Given the description of an element on the screen output the (x, y) to click on. 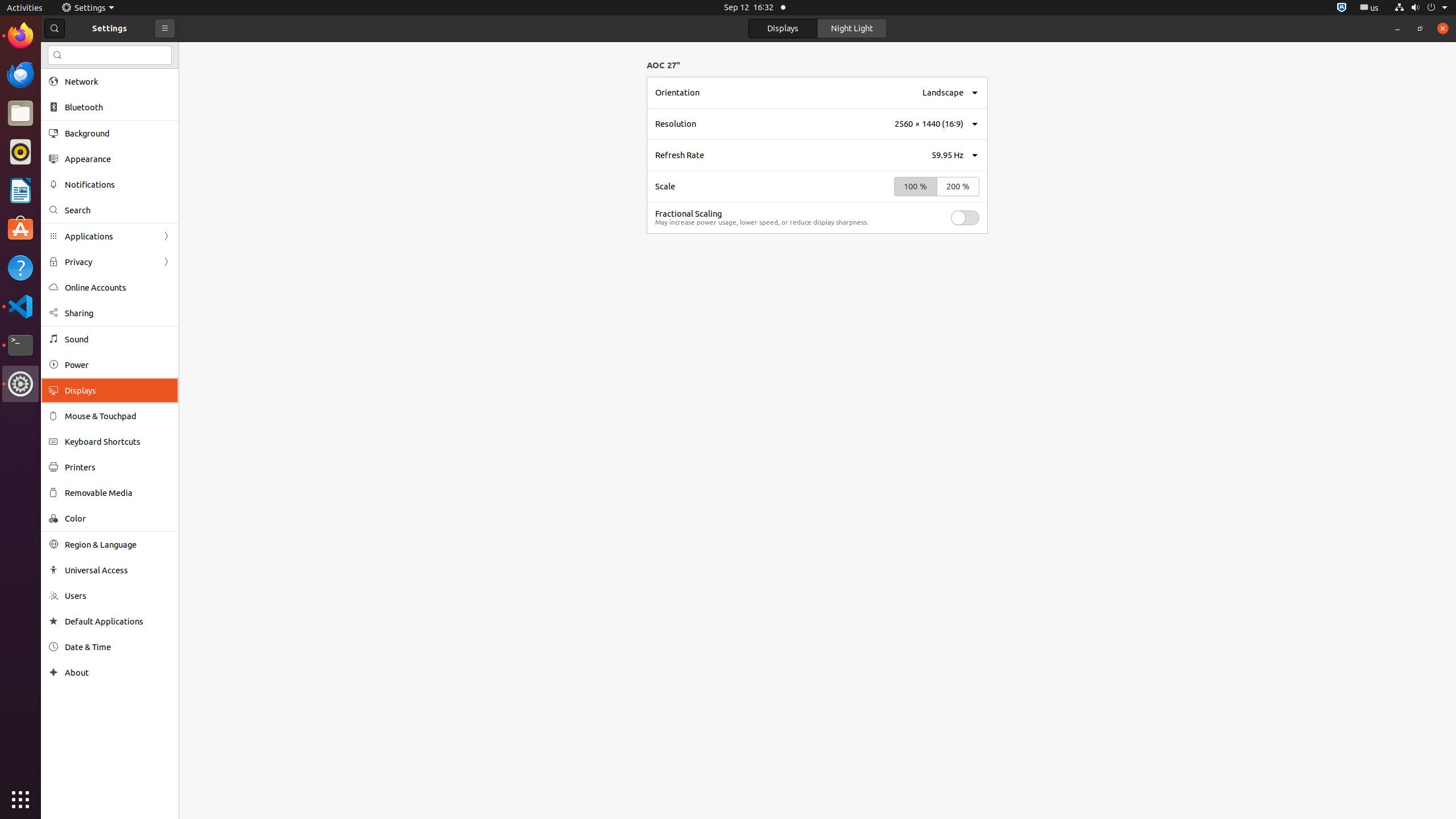
Printers Element type: label (117, 467)
Privacy Element type: label (109, 261)
Orientation Element type: label (677, 92)
Mouse & Touchpad Element type: label (117, 415)
